Given the description of an element on the screen output the (x, y) to click on. 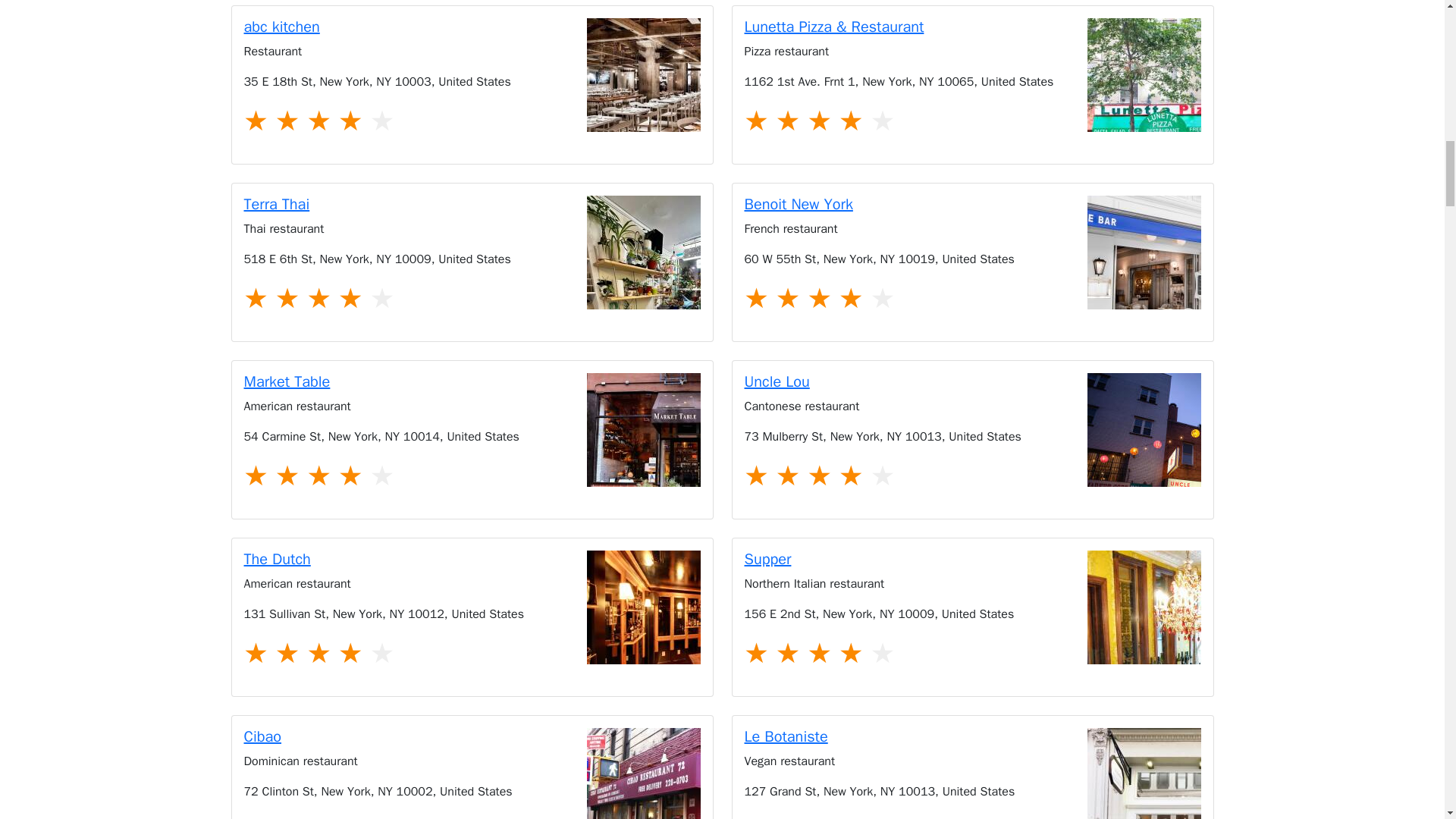
Terra Thai (472, 204)
Market Table (472, 382)
The Dutch (643, 607)
Terra Thai (643, 252)
abc kitchen (643, 74)
Uncle Lou (1144, 429)
Market Table (643, 429)
Benoit New York (1144, 252)
abc kitchen (472, 27)
Benoit New York (972, 204)
